Given the description of an element on the screen output the (x, y) to click on. 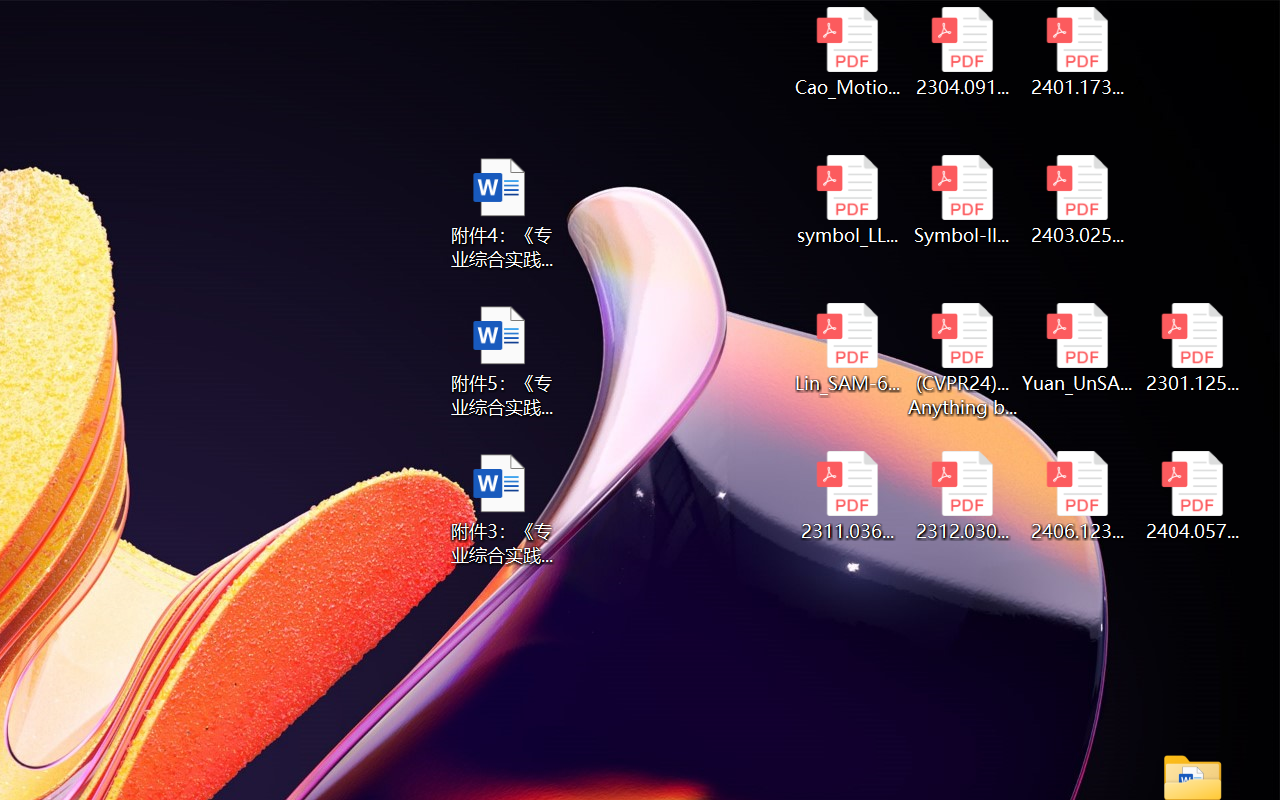
2304.09121v3.pdf (962, 52)
2406.12373v2.pdf (1077, 496)
2312.03032v2.pdf (962, 496)
(CVPR24)Matching Anything by Segmenting Anything.pdf (962, 360)
Symbol-llm-v2.pdf (962, 200)
2301.12597v3.pdf (1192, 348)
2404.05719v1.pdf (1192, 496)
2311.03658v2.pdf (846, 496)
2403.02502v1.pdf (1077, 200)
2401.17399v1.pdf (1077, 52)
